Given the description of an element on the screen output the (x, y) to click on. 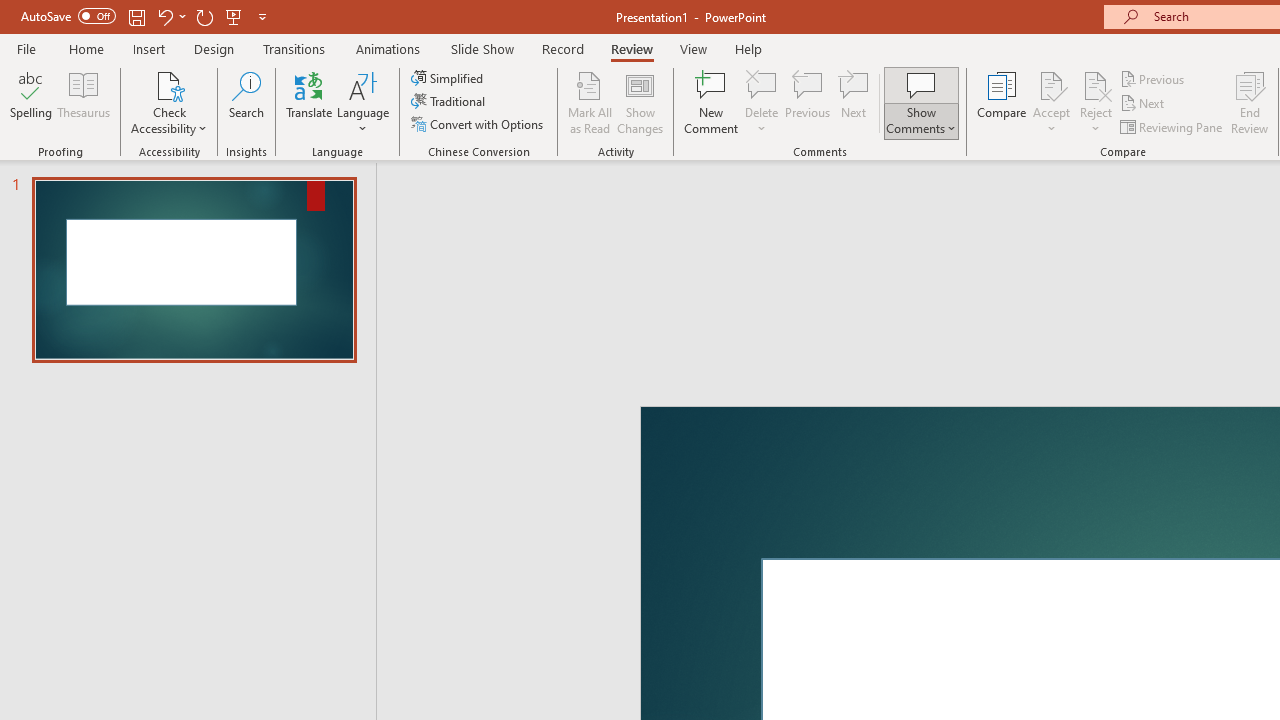
Can't Undo (280, 31)
Customize Quick Access Toolbar (384, 32)
OfficePLUS (233, 84)
Draw (413, 84)
3D Models (576, 136)
Pictures (365, 161)
Icons (500, 161)
SmartArt... (659, 161)
Can't Undo (290, 31)
References (690, 84)
Save (241, 31)
Zotero (1166, 84)
Link (1001, 161)
View (1087, 84)
